Given the description of an element on the screen output the (x, y) to click on. 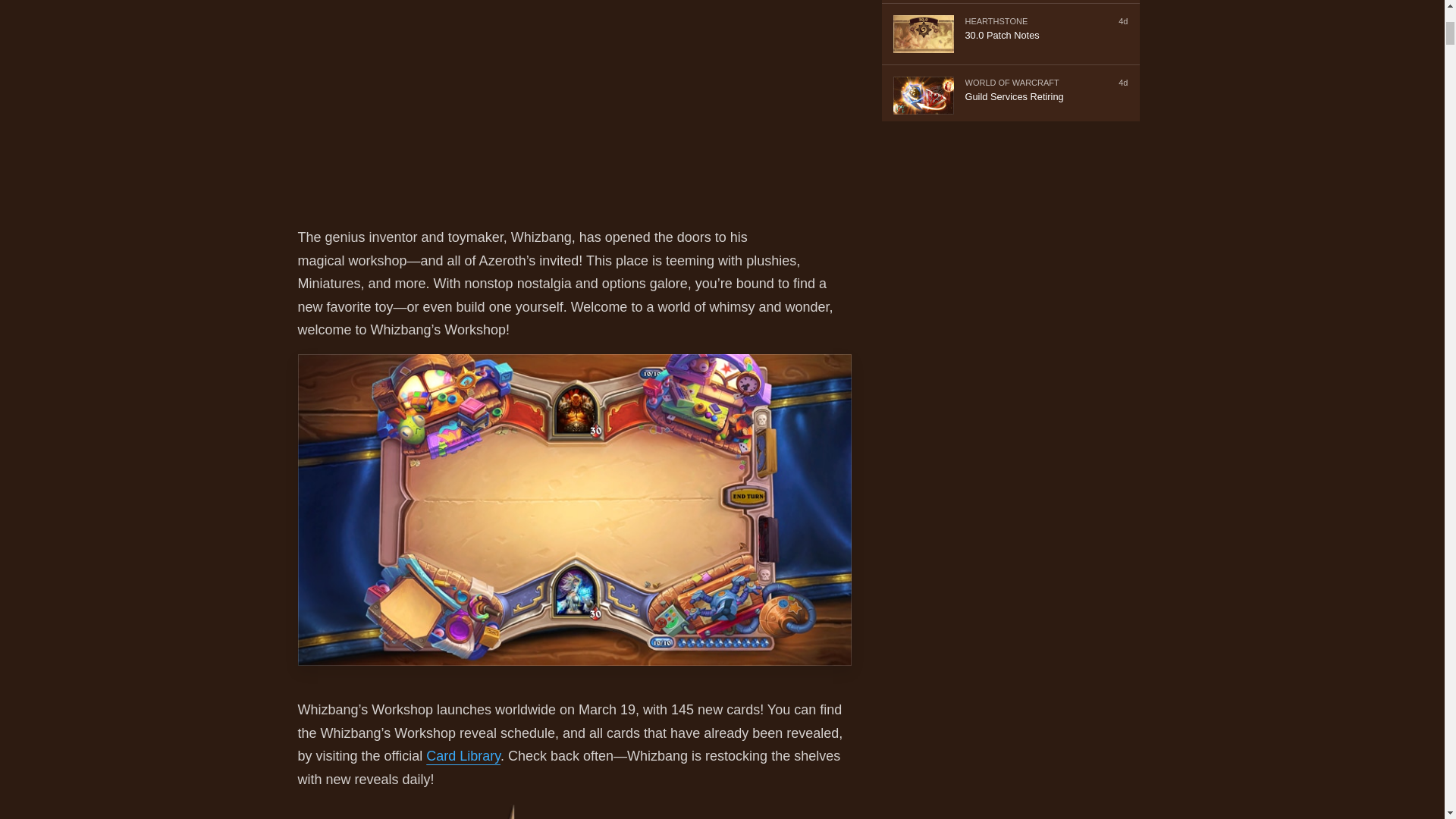
YouTube video player (596, 103)
